Given the description of an element on the screen output the (x, y) to click on. 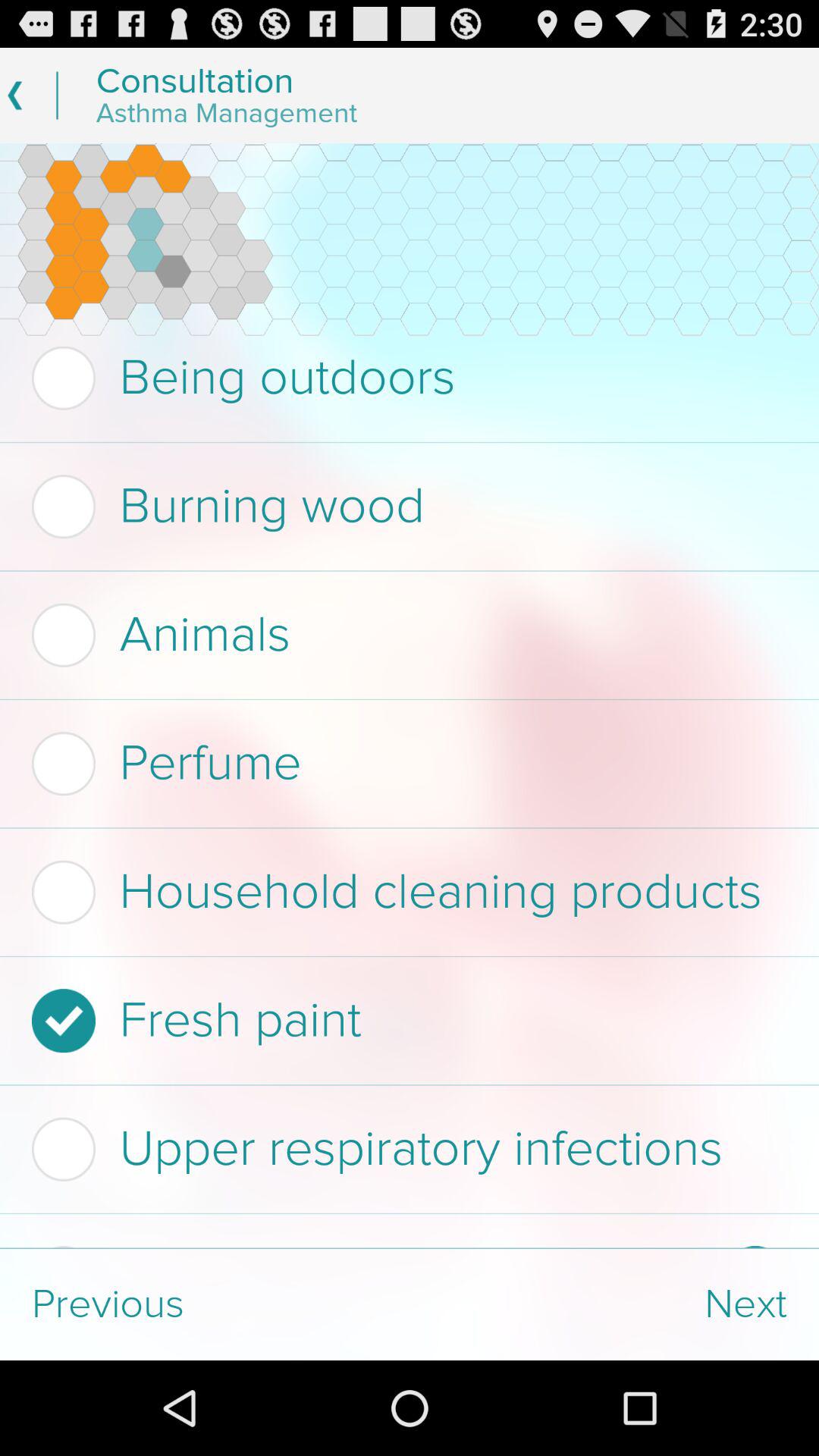
open item above the animals item (405, 506)
